Given the description of an element on the screen output the (x, y) to click on. 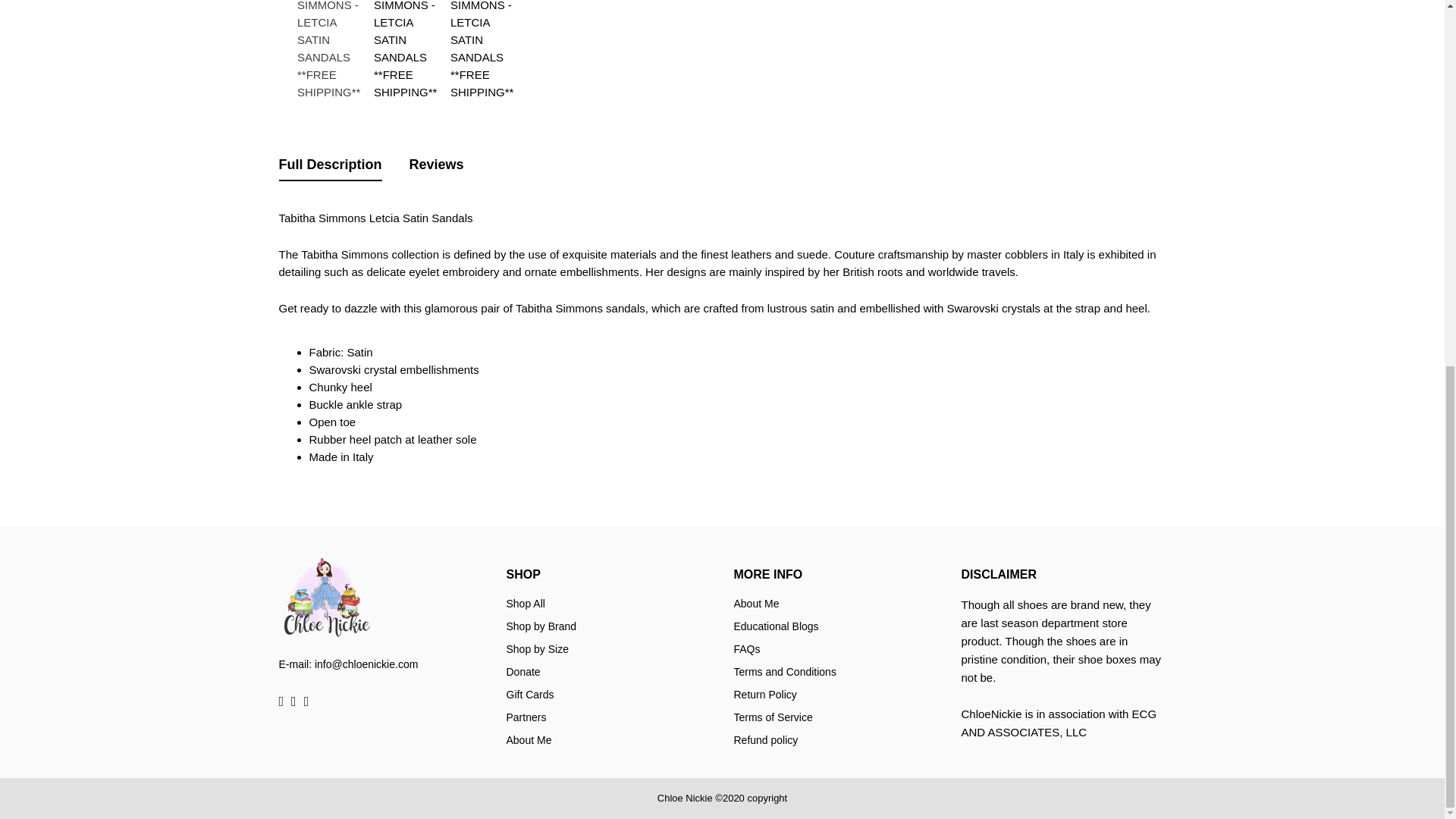
Chloe Nickie on icon-linkedin (306, 701)
Chloe Nickie on Instagram (292, 701)
Chloe Nickie on Facebook (280, 701)
